Given the description of an element on the screen output the (x, y) to click on. 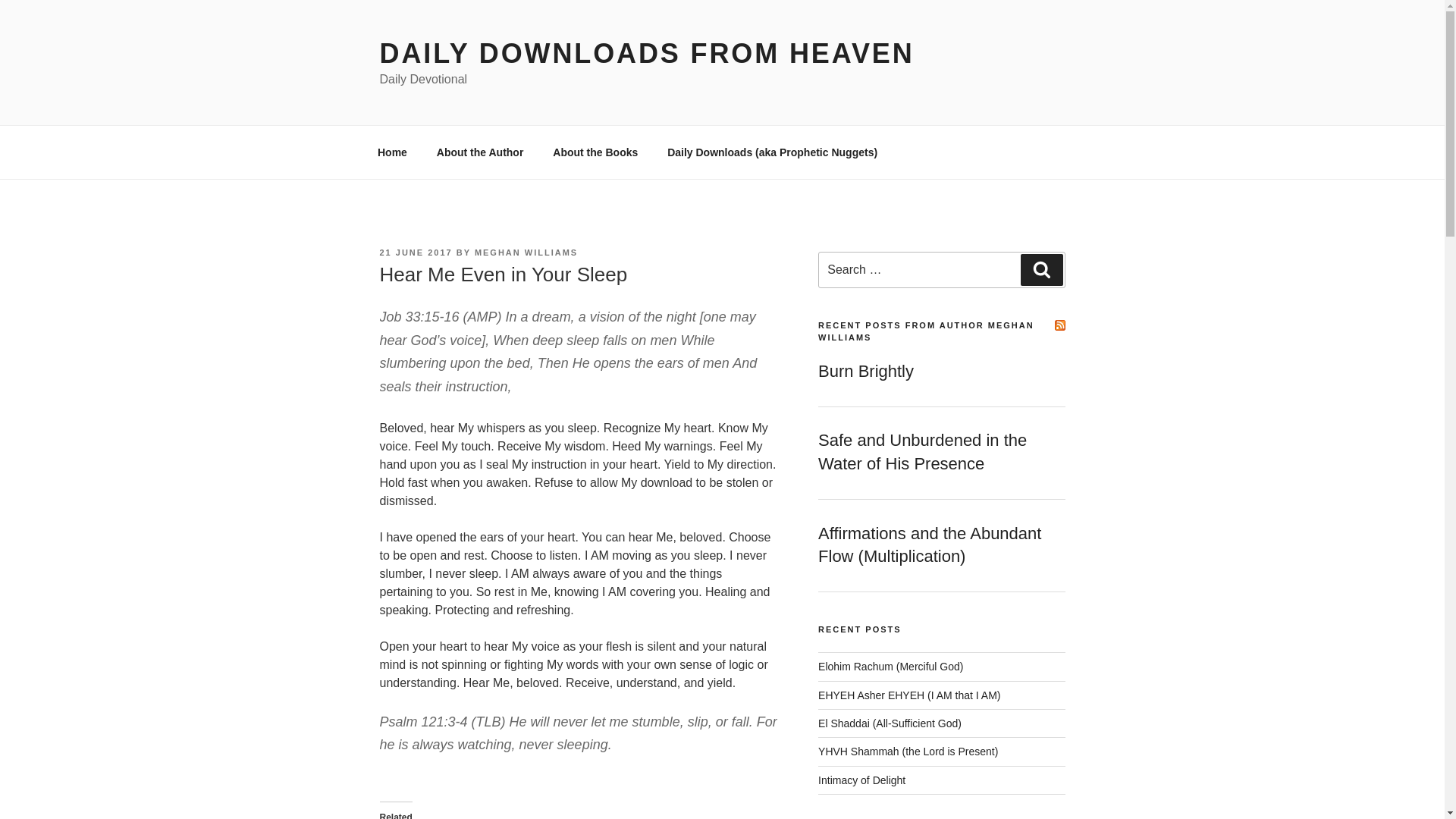
Safe and Unburdened in the Water of His Presence (922, 451)
About the Author (480, 151)
RECENT POSTS FROM AUTHOR MEGHAN WILLIAMS (925, 331)
Burn Brightly (866, 370)
Intimacy of Delight (861, 779)
Home (392, 151)
MEGHAN WILLIAMS (526, 252)
DAILY DOWNLOADS FROM HEAVEN (646, 52)
About the Books (595, 151)
Search (1041, 269)
